Given the description of an element on the screen output the (x, y) to click on. 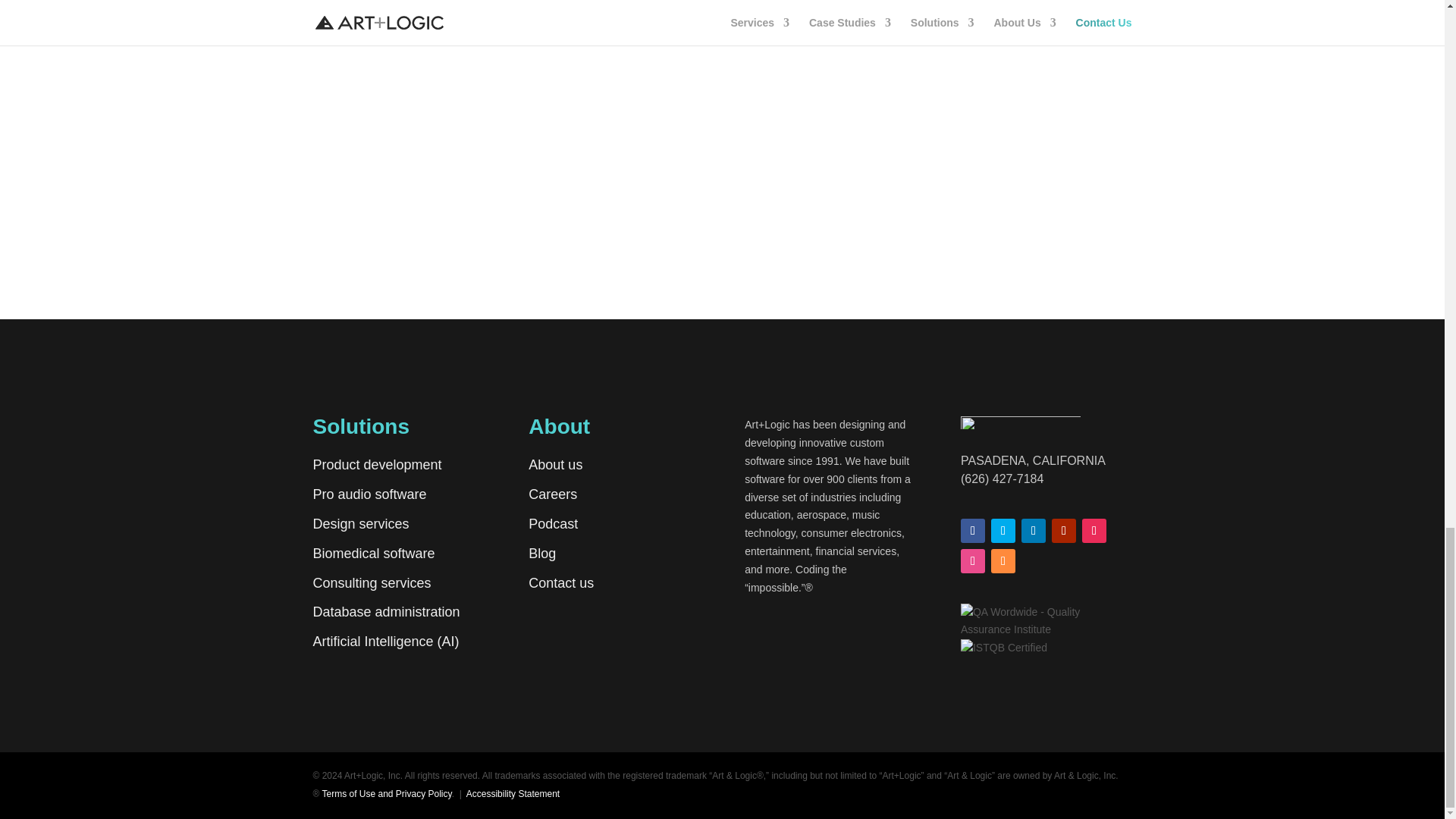
Follow on Youtube (1063, 530)
Follow on RSS (1002, 560)
Product development (377, 464)
Follow on Facebook (972, 530)
Design services (361, 523)
Follow on dribbble (972, 560)
Biomedical software (373, 553)
Follow on Twitter (1002, 530)
Pro audio software (369, 494)
Follow on Instagram (1093, 530)
